Given the description of an element on the screen output the (x, y) to click on. 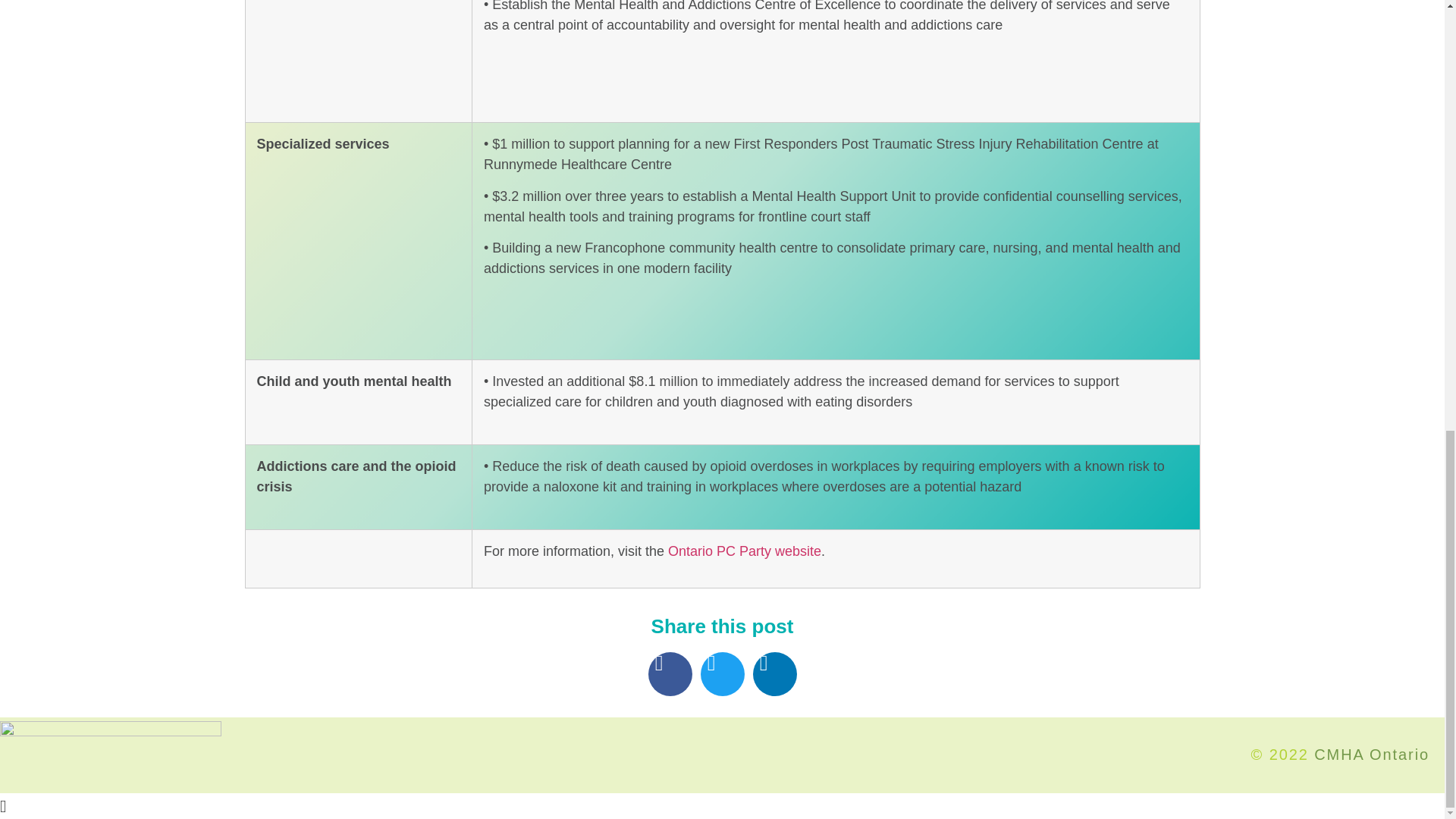
CMHA Ontario (1371, 754)
Ontario PC Party website (744, 550)
